Given the description of an element on the screen output the (x, y) to click on. 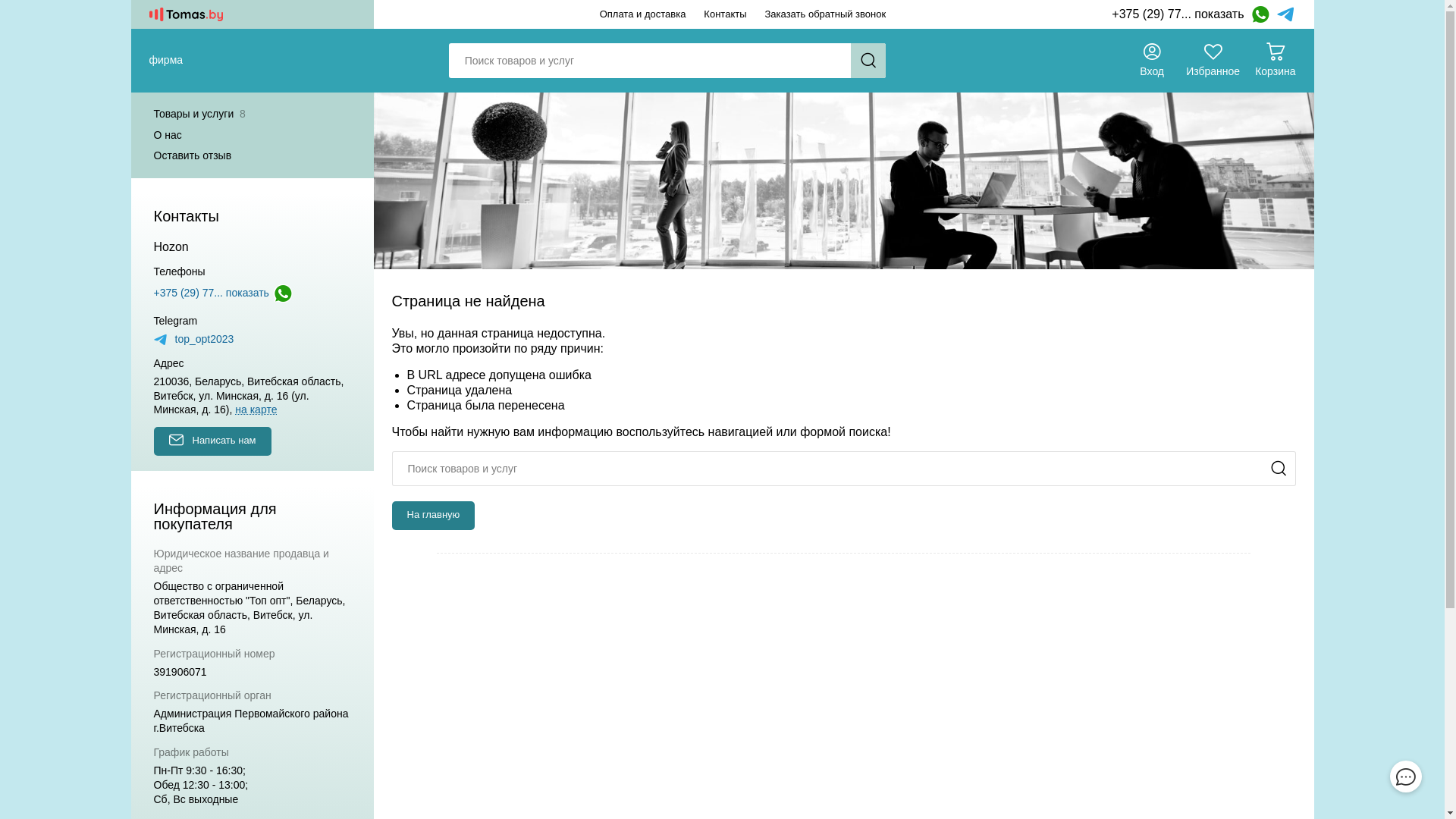
WhatsApp Element type: hover (282, 293)
top_opt2023 Element type: text (193, 339)
Telegram Element type: hover (1286, 14)
WhatsApp Element type: hover (1260, 14)
